Given the description of an element on the screen output the (x, y) to click on. 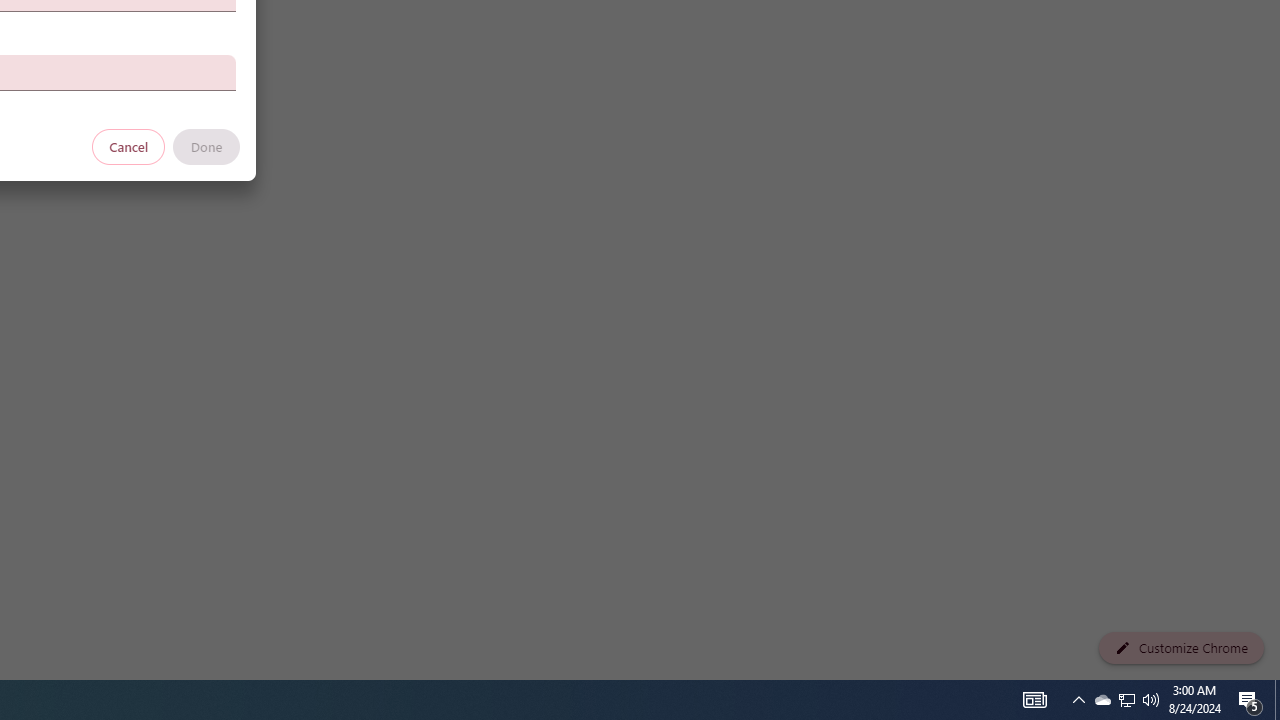
Done (206, 146)
Cancel (129, 146)
